Given the description of an element on the screen output the (x, y) to click on. 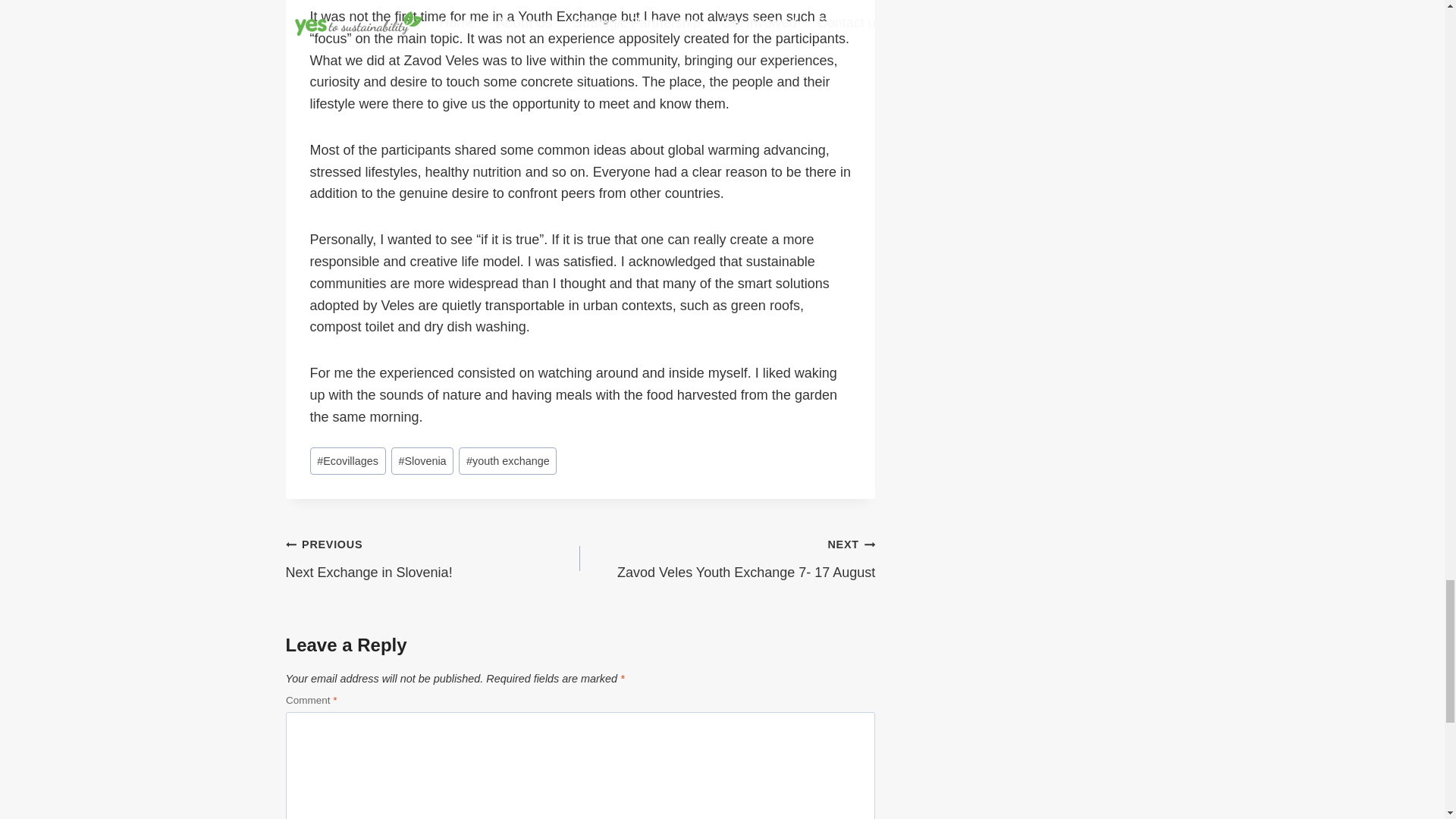
Ecovillages (346, 461)
Slovenia (421, 461)
youth exchange (507, 461)
